Given the description of an element on the screen output the (x, y) to click on. 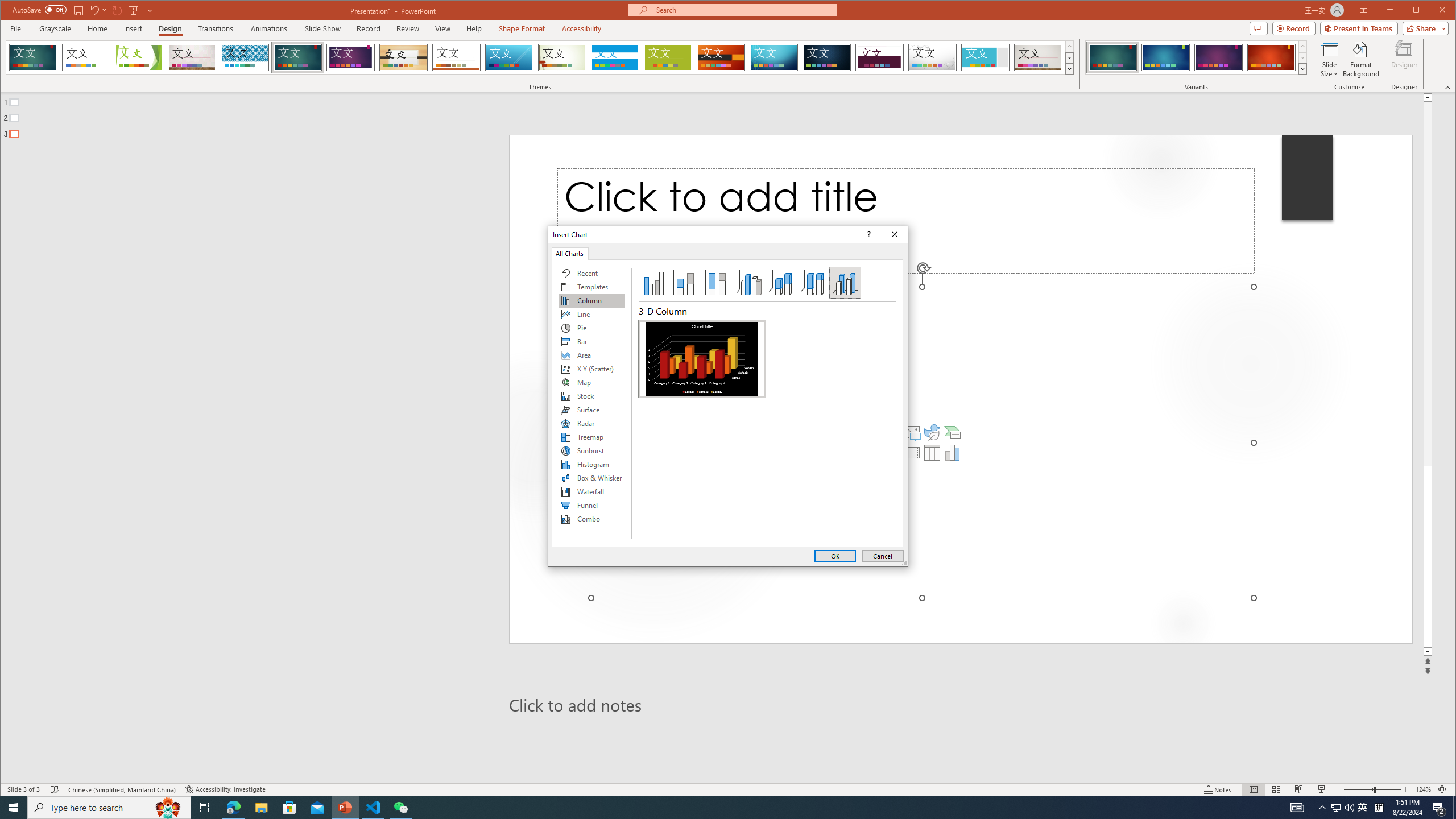
Berlin (720, 57)
100% Stacked Column (717, 282)
Variants (1302, 68)
Pie (591, 327)
